Given the description of an element on the screen output the (x, y) to click on. 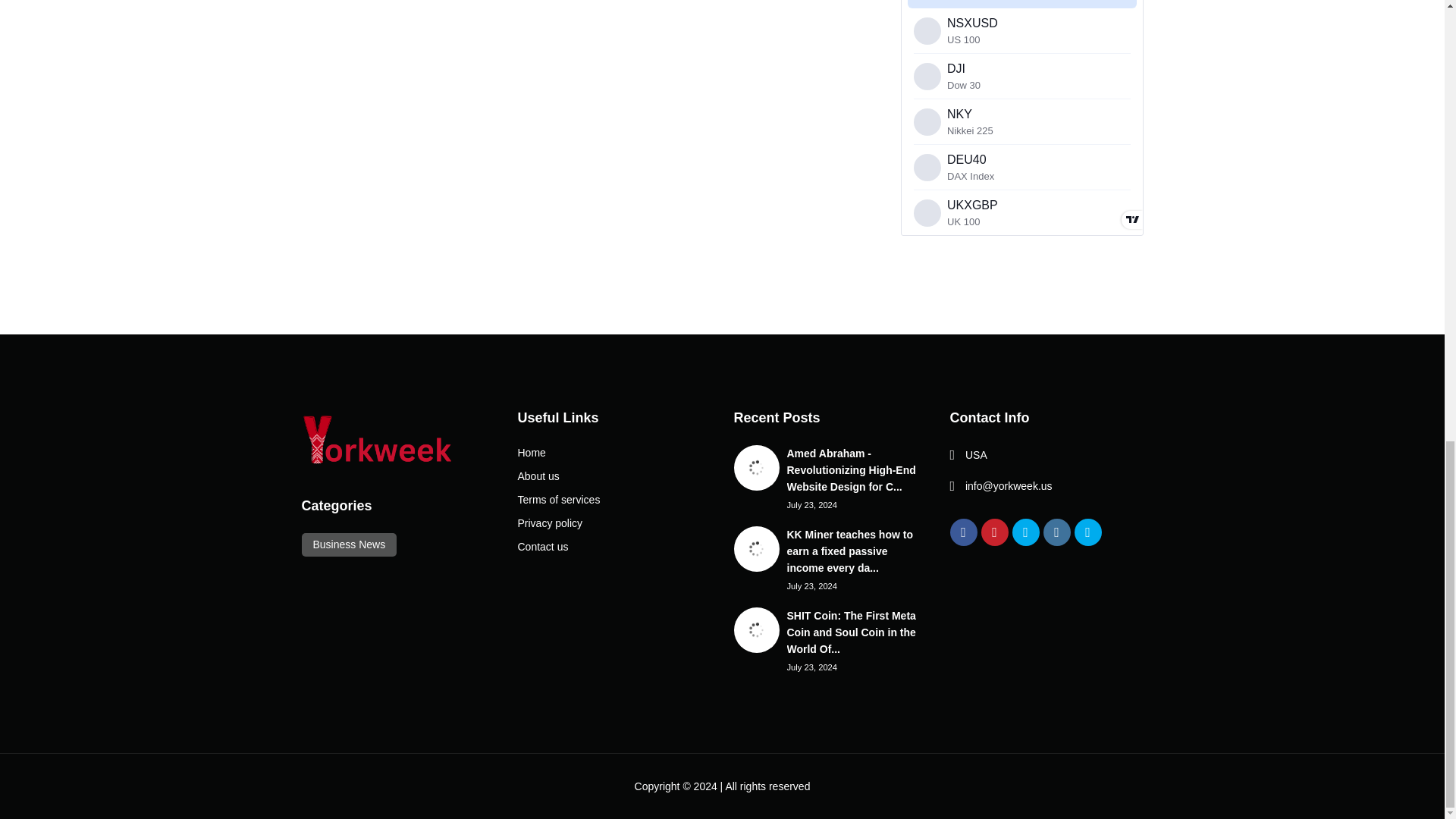
Privacy policy (549, 522)
Contact us (541, 546)
About us (537, 476)
Home (530, 452)
market overview TradingView widget (1021, 117)
Business News (349, 544)
Terms of services (557, 499)
